Given the description of an element on the screen output the (x, y) to click on. 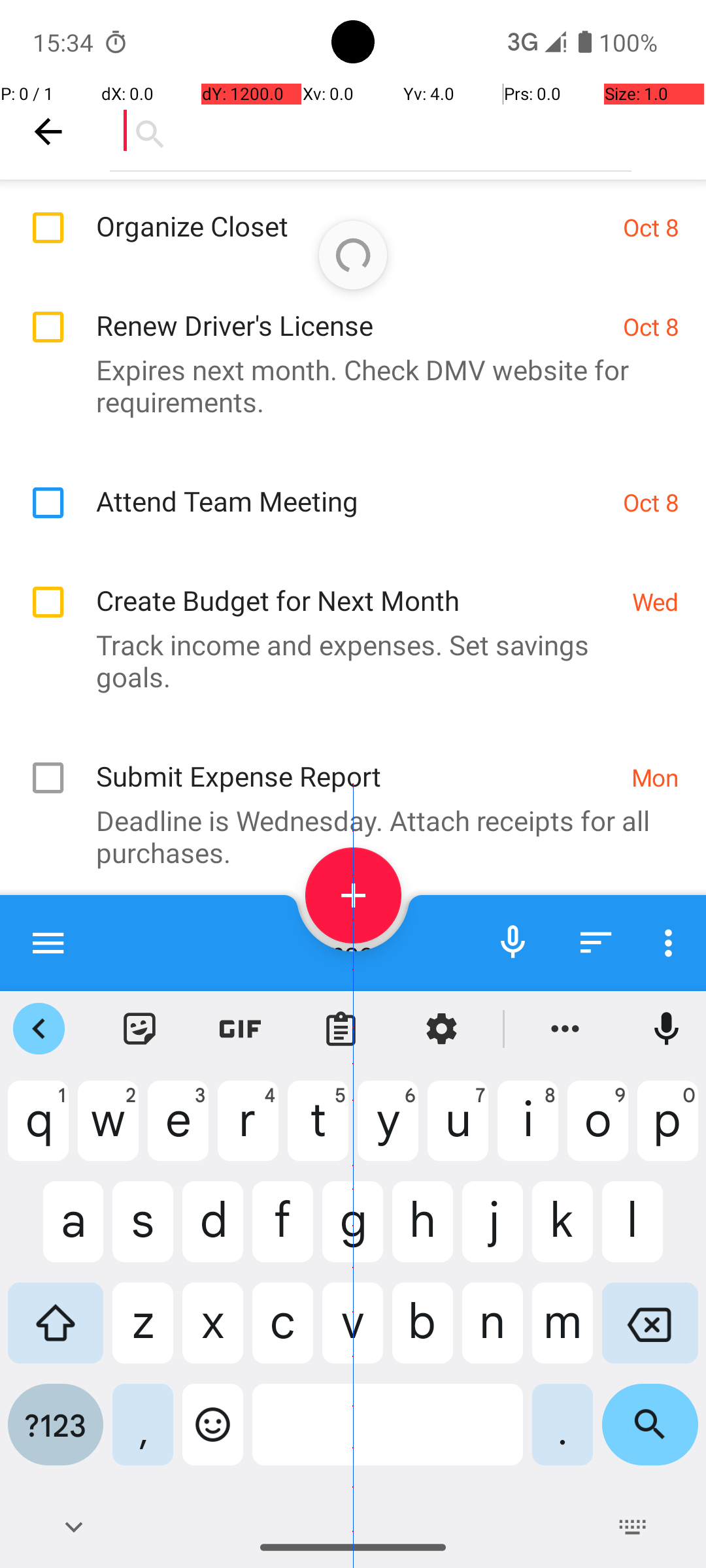
    Element type: android.widget.AutoCompleteTextView (370, 130)
Organize Closet Element type: android.widget.TextView (352, 211)
Oct 8 Element type: android.widget.TextView (650, 226)
Expires next month. Check DMV website for requirements. Element type: android.widget.TextView (346, 385)
Track income and expenses. Set savings goals. Element type: android.widget.TextView (346, 660)
Deadline is Wednesday. Attach receipts for all purchases. Element type: android.widget.TextView (346, 835)
